Given the description of an element on the screen output the (x, y) to click on. 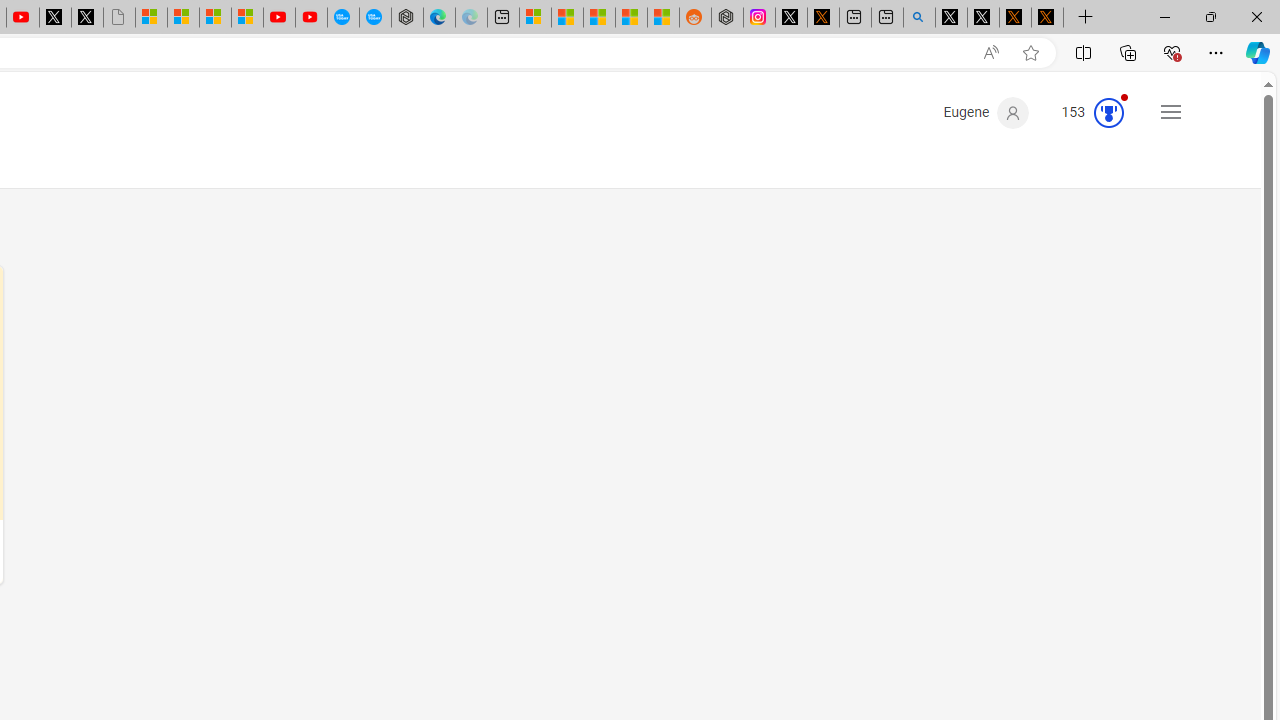
GitHub (@github) / X (983, 17)
Microsoft Rewards 153 (1084, 112)
github - Search (919, 17)
Shanghai, China hourly forecast | Microsoft Weather (599, 17)
